Given the description of an element on the screen output the (x, y) to click on. 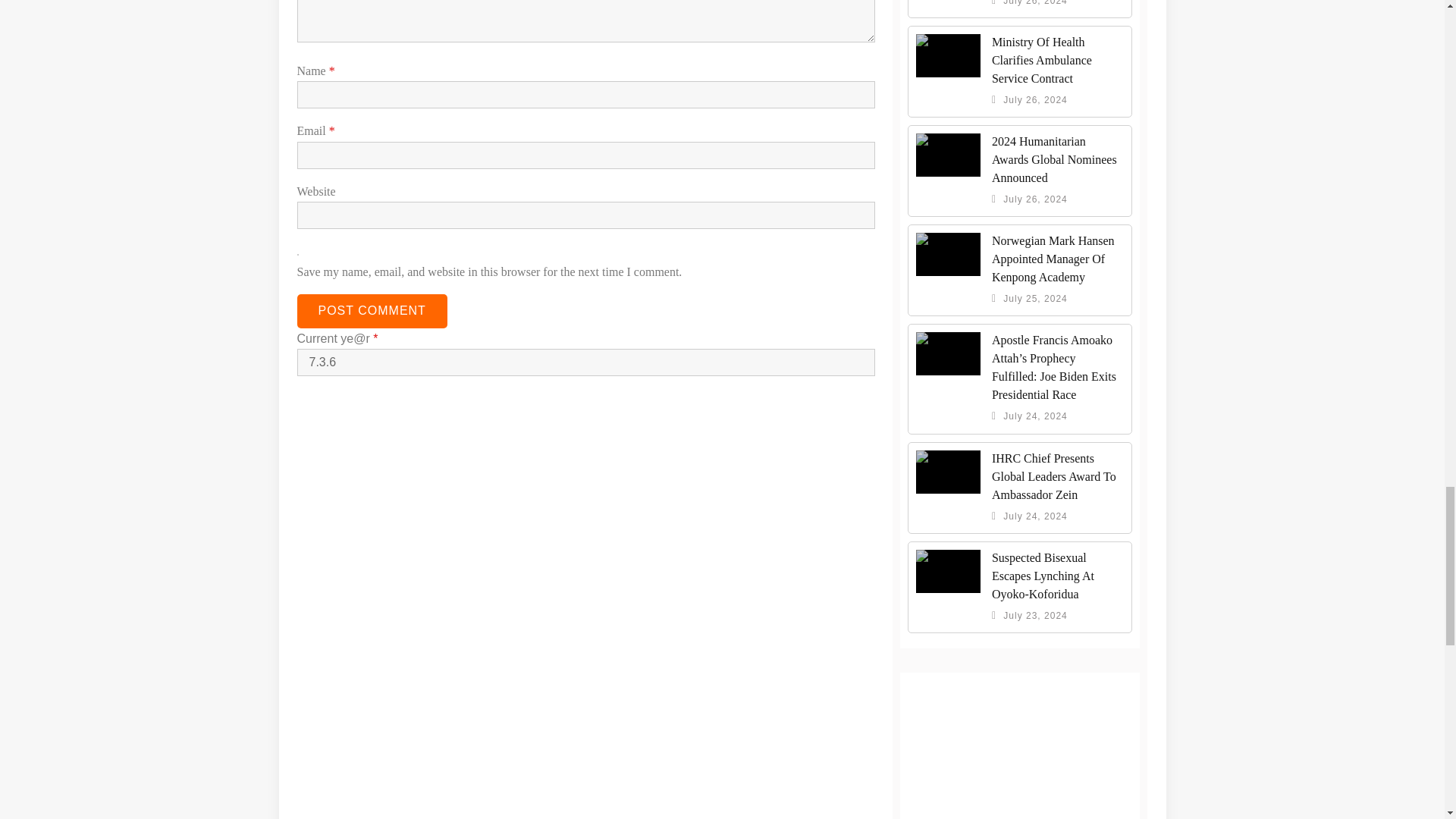
Post Comment (371, 311)
7.3.6 (586, 361)
